Given the description of an element on the screen output the (x, y) to click on. 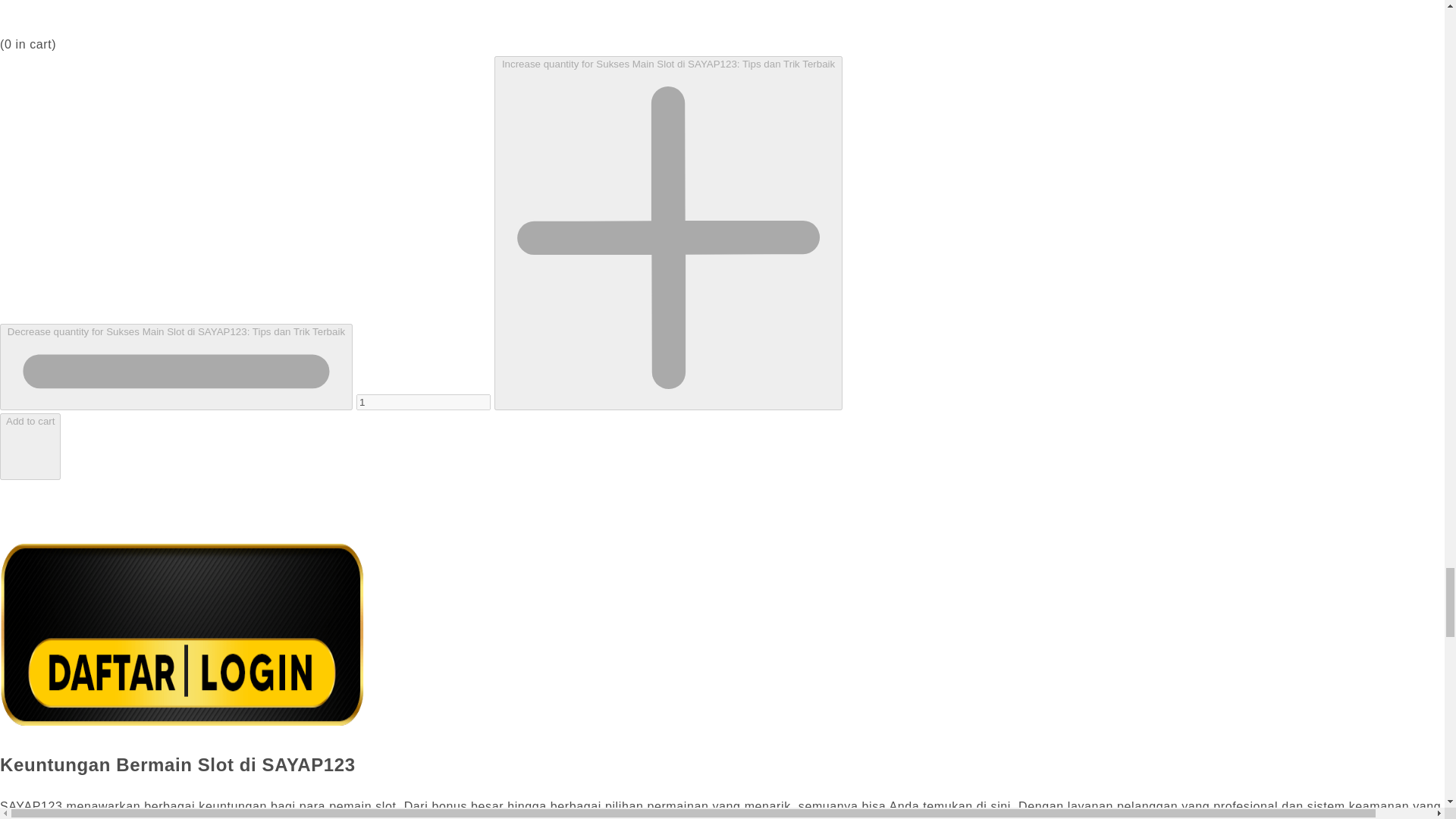
Sukses Main Slot di SAYAP123: Tips dan Trik Terbaik (182, 721)
Add to cart (30, 446)
1 (423, 401)
